Given the description of an element on the screen output the (x, y) to click on. 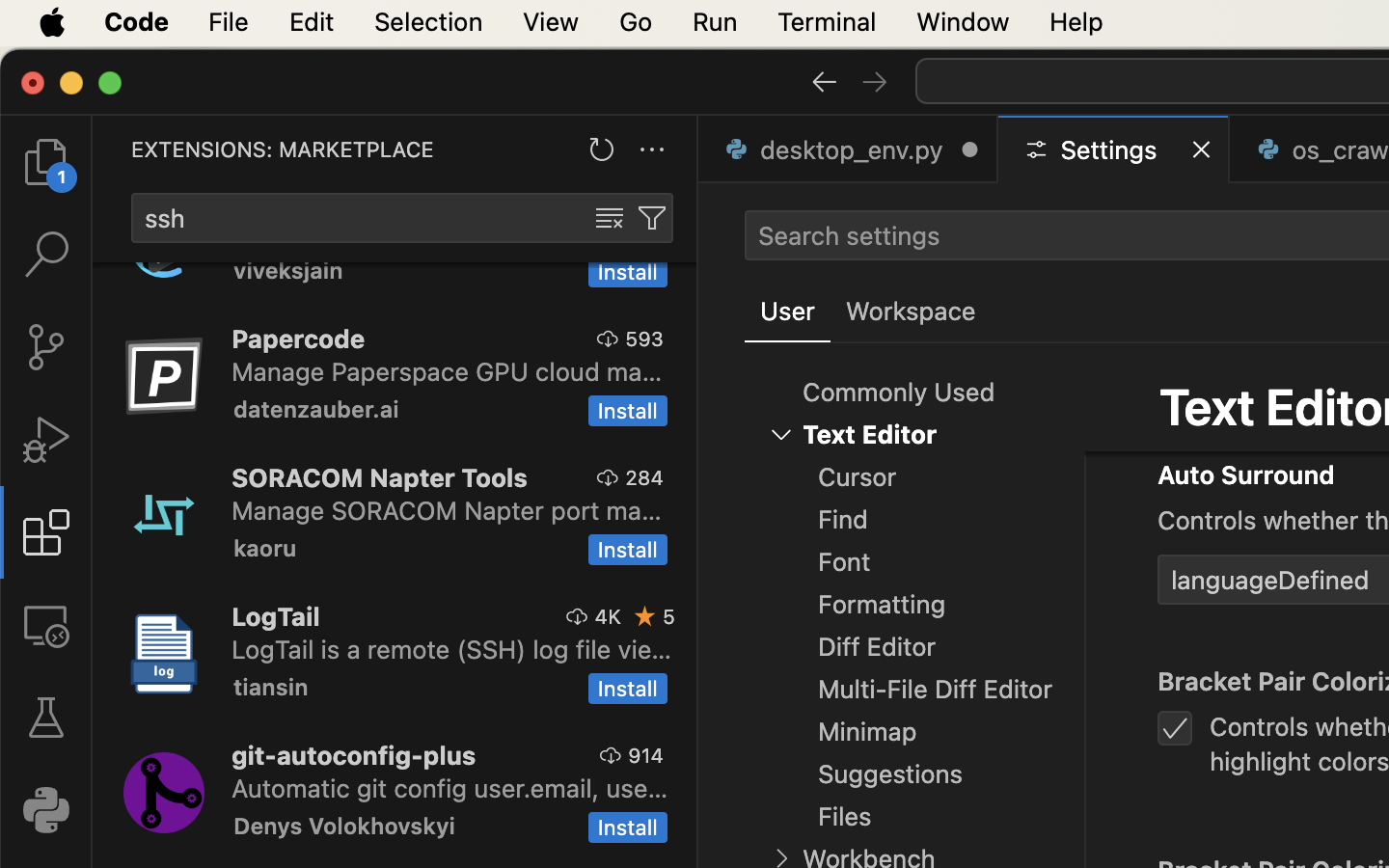
 Element type: AXGroup (46, 254)
Font Element type: AXStaticText (844, 561)
Papercode Element type: AXStaticText (298, 338)
Minimap Element type: AXStaticText (867, 731)
Auto Surround Element type: AXStaticText (1245, 475)
